Given the description of an element on the screen output the (x, y) to click on. 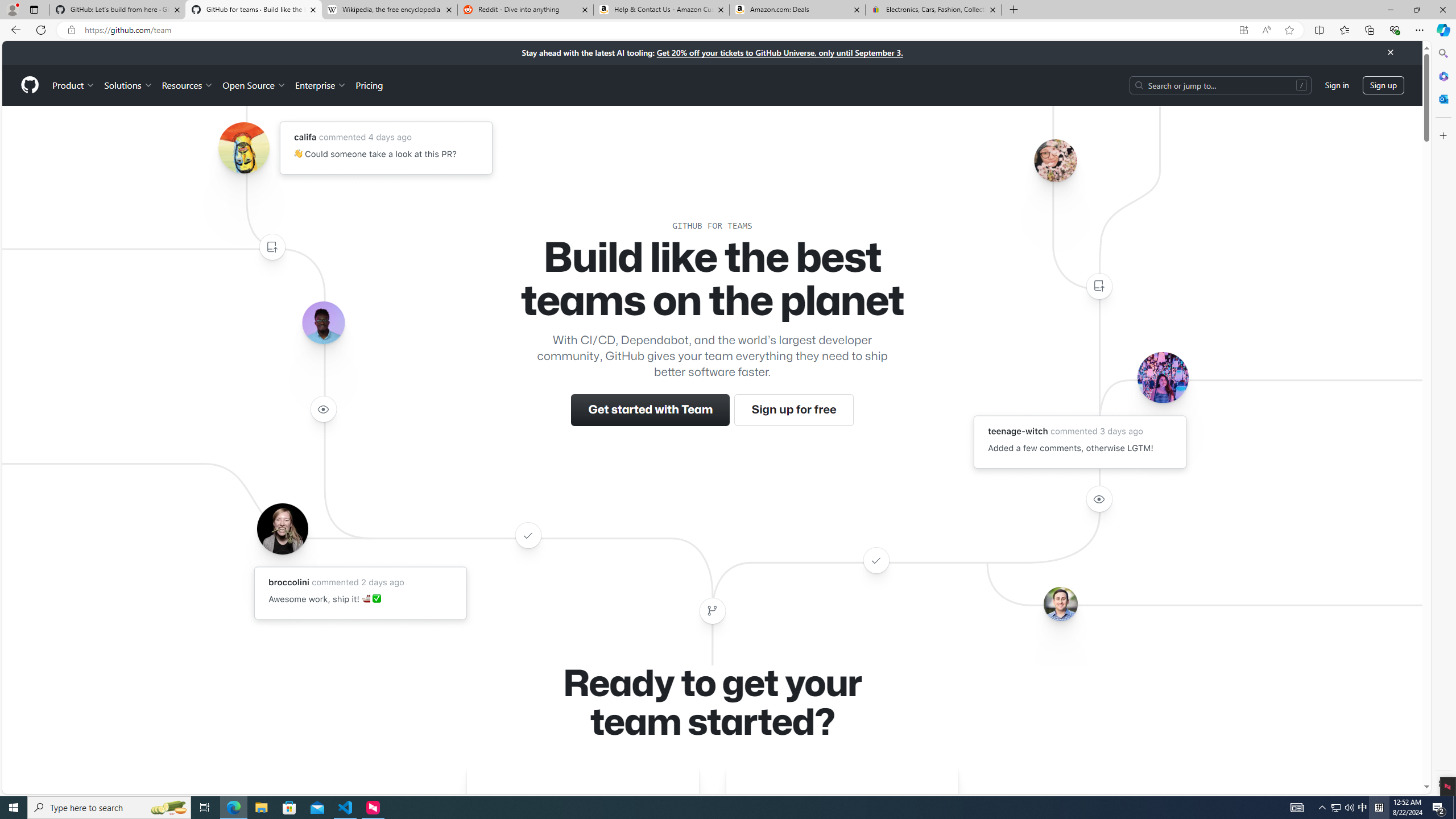
Open Source (254, 84)
Resources (187, 84)
Solutions (128, 84)
Class: color-fg-muted width-full (711, 610)
Pricing (368, 84)
Avatar of the user califa (243, 147)
